Given the description of an element on the screen output the (x, y) to click on. 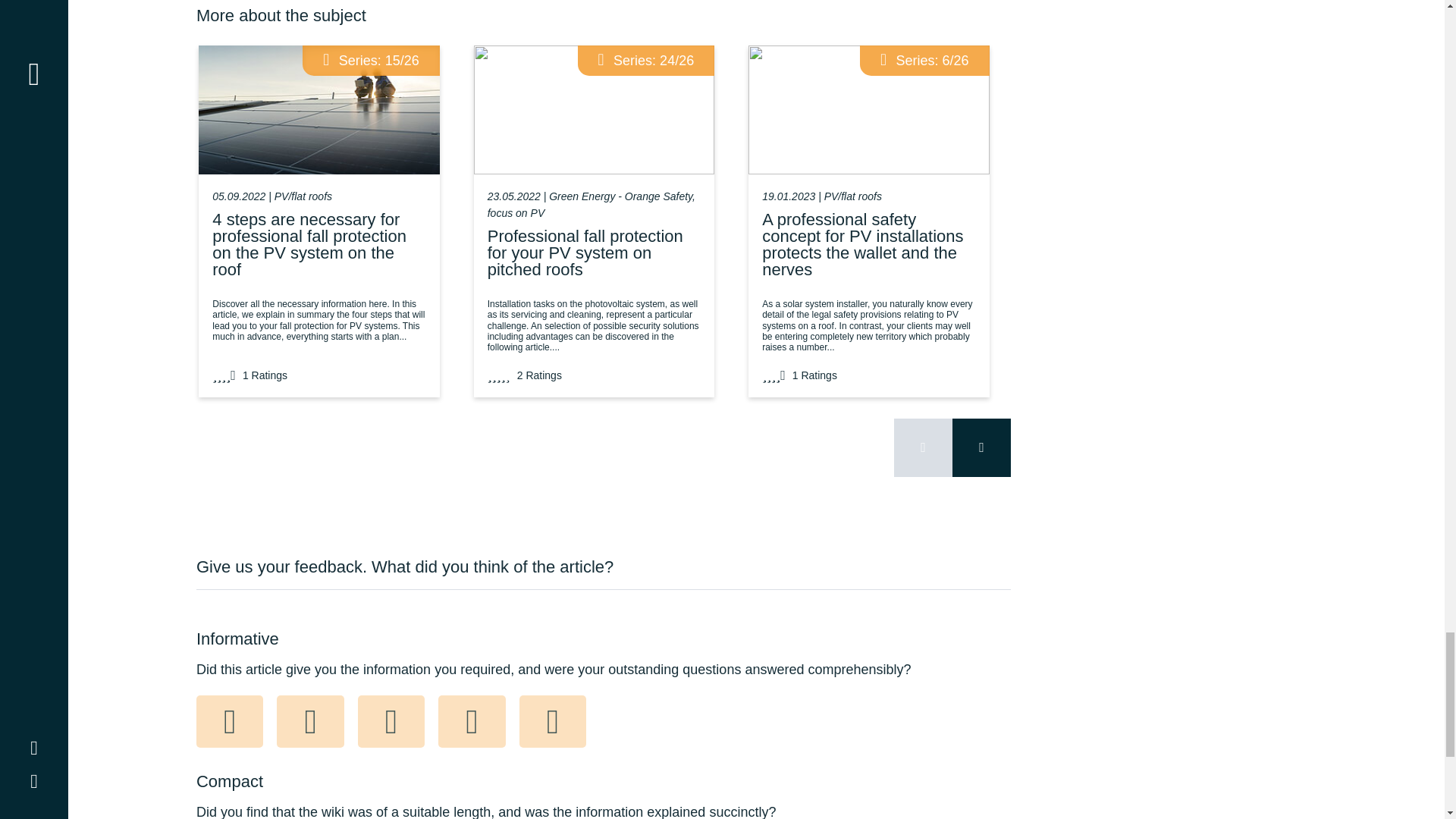
My expectations were partially met. (309, 722)
4,2 (499, 375)
4,3 (223, 375)
4,7 (773, 375)
My expectations were not met. (229, 722)
